Given the description of an element on the screen output the (x, y) to click on. 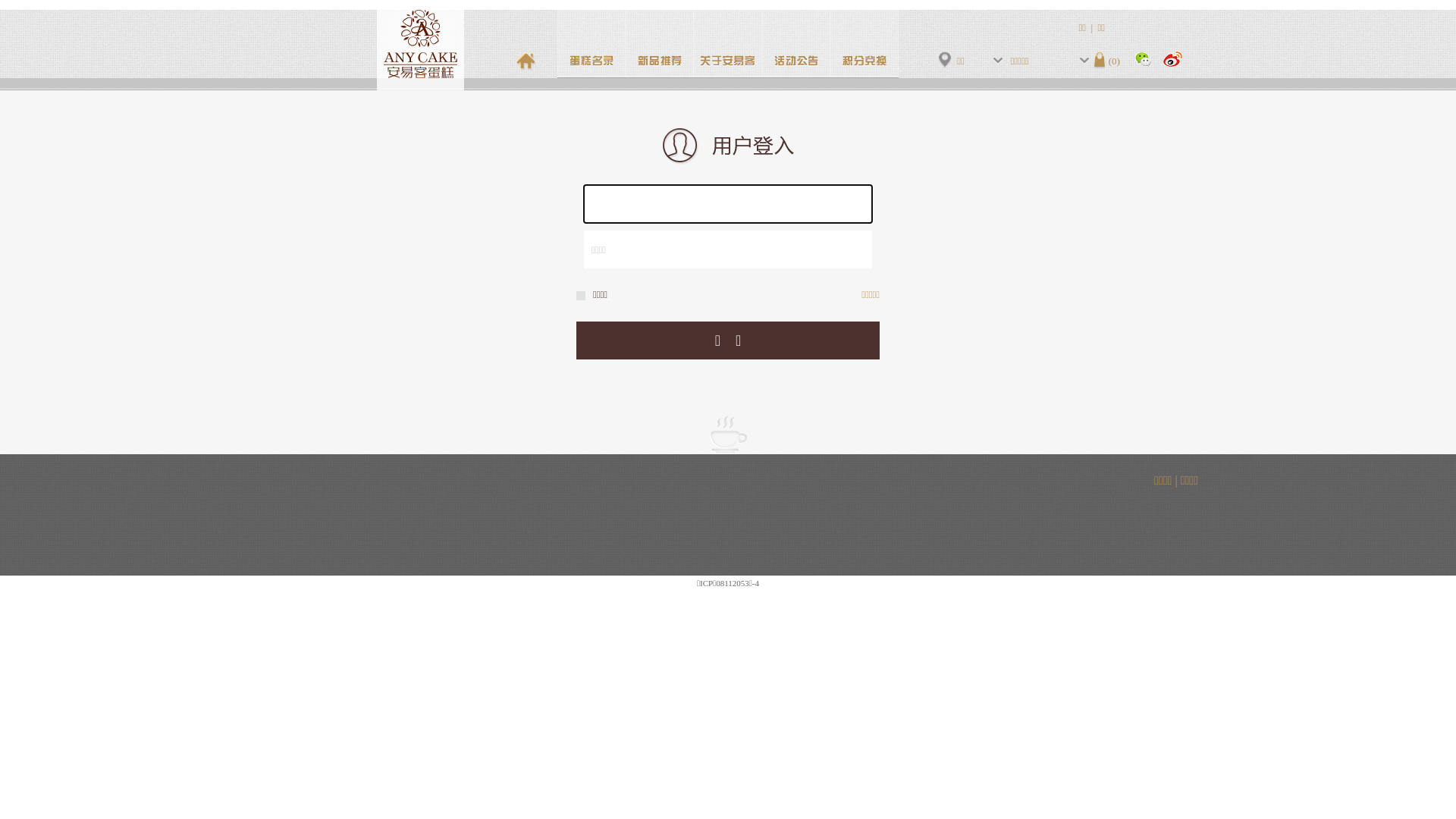
(0) Element type: text (1106, 60)
